Given the description of an element on the screen output the (x, y) to click on. 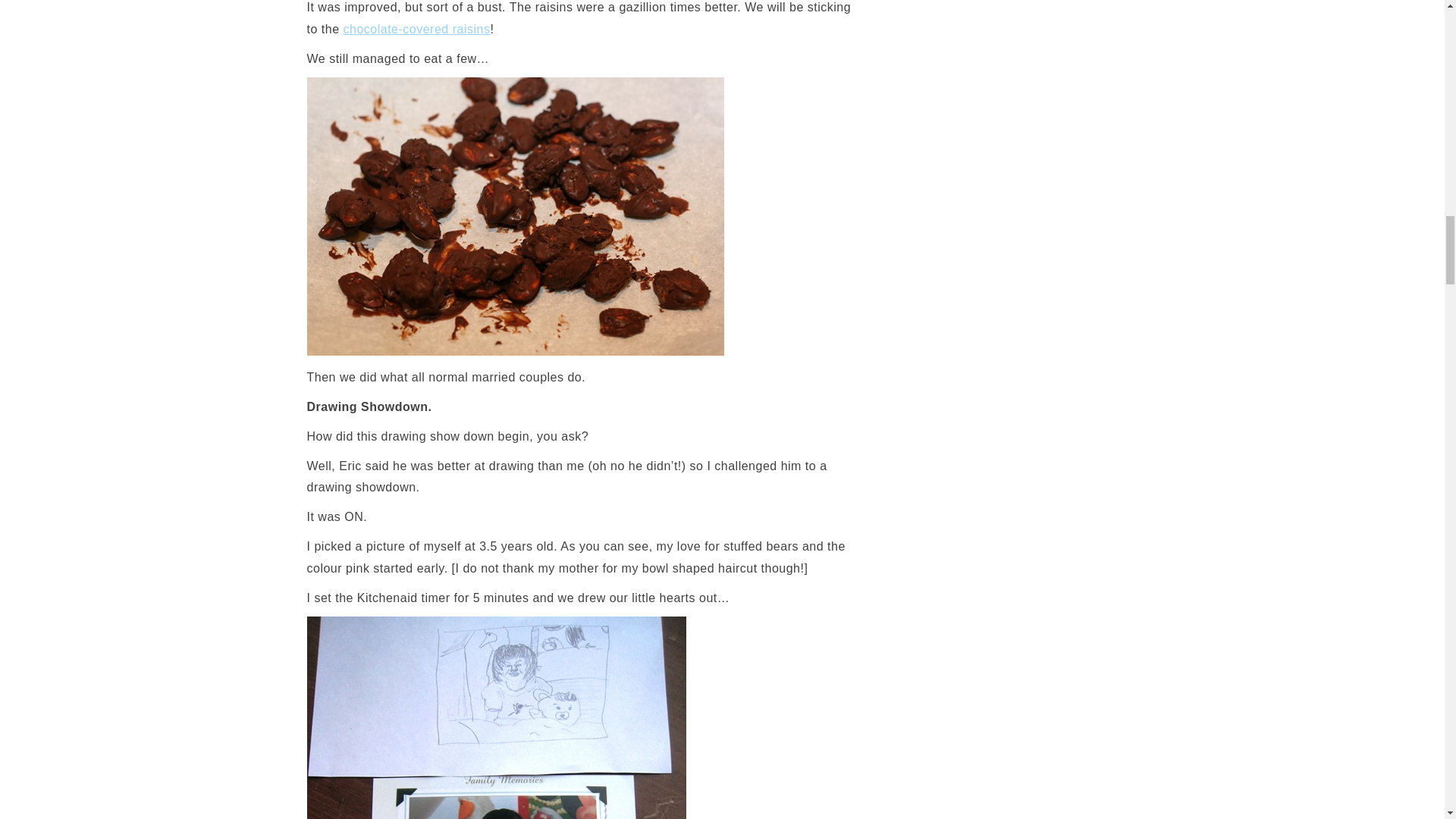
chocolate-covered raisins (415, 29)
